Given the description of an element on the screen output the (x, y) to click on. 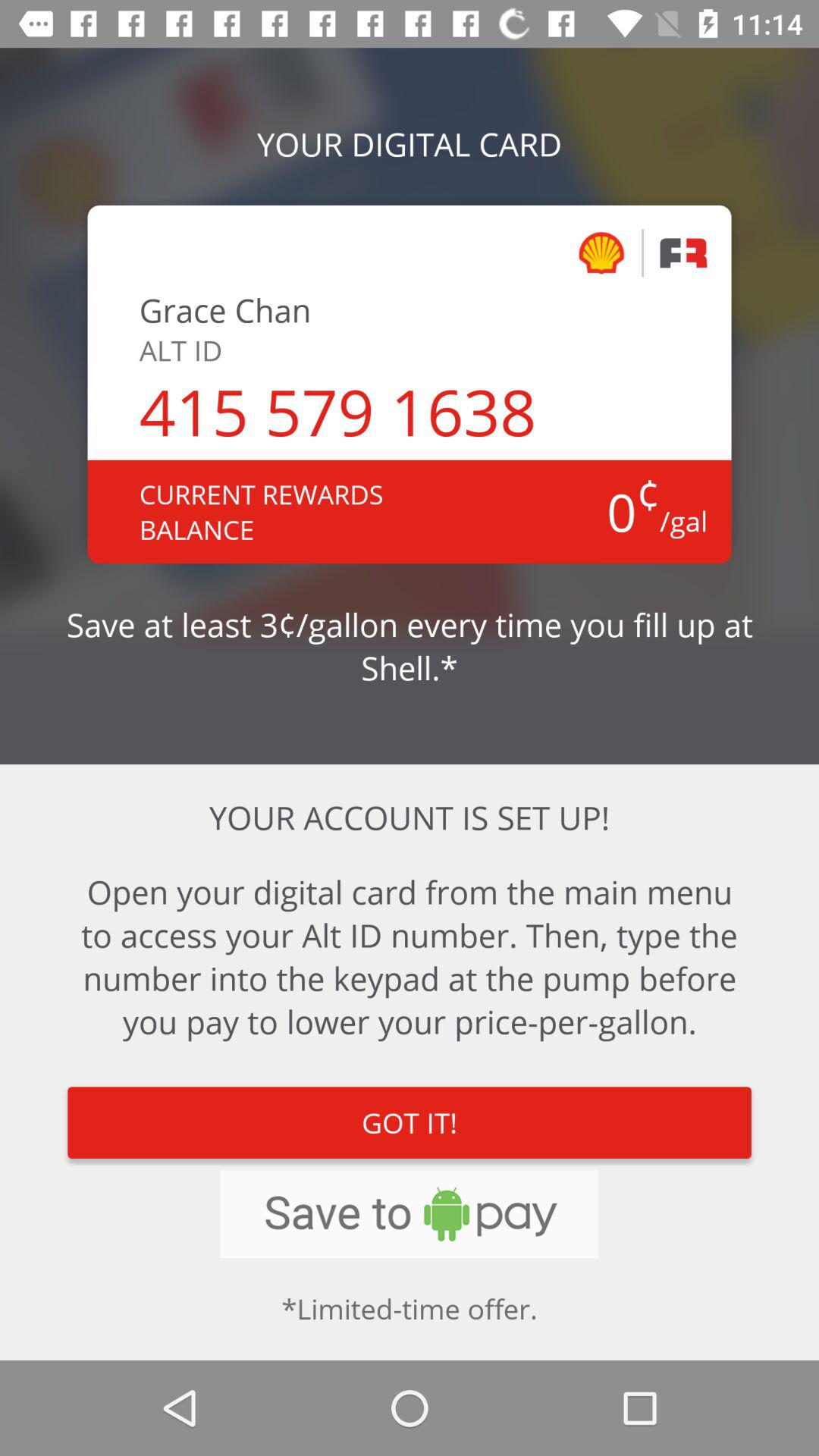
save to android pay (409, 1214)
